Given the description of an element on the screen output the (x, y) to click on. 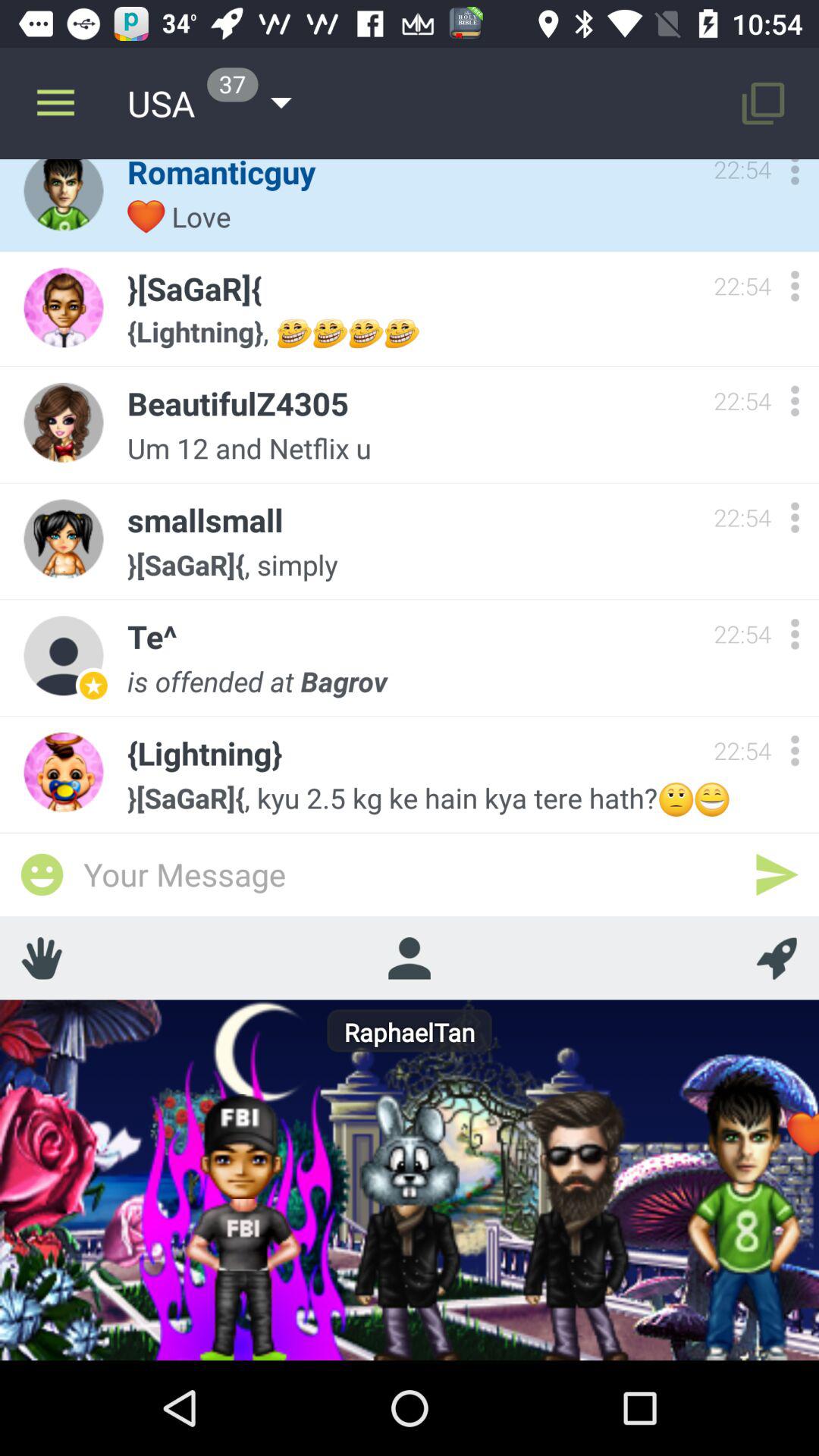
relay message (777, 874)
